Given the description of an element on the screen output the (x, y) to click on. 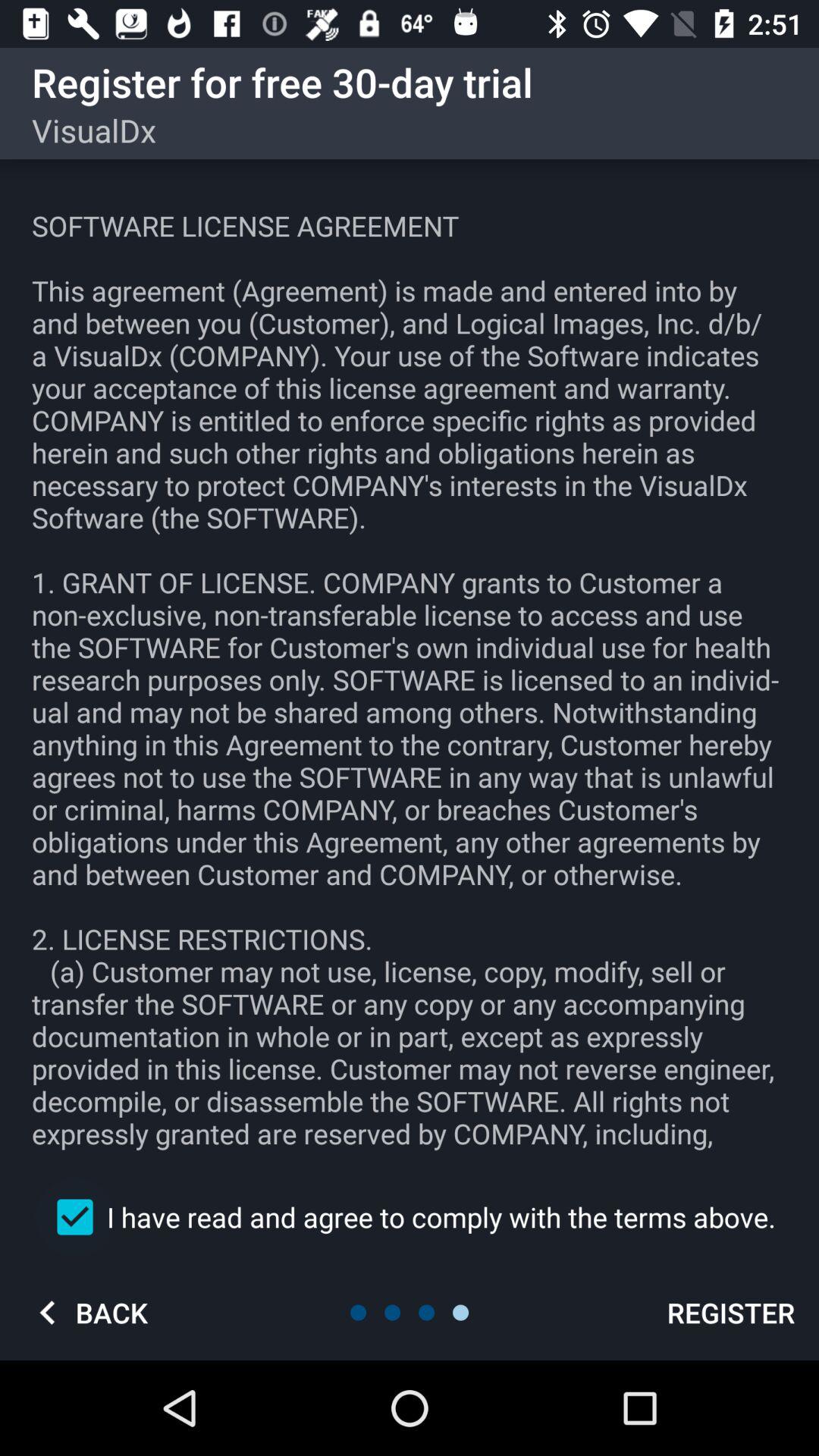
jump until back (87, 1312)
